Given the description of an element on the screen output the (x, y) to click on. 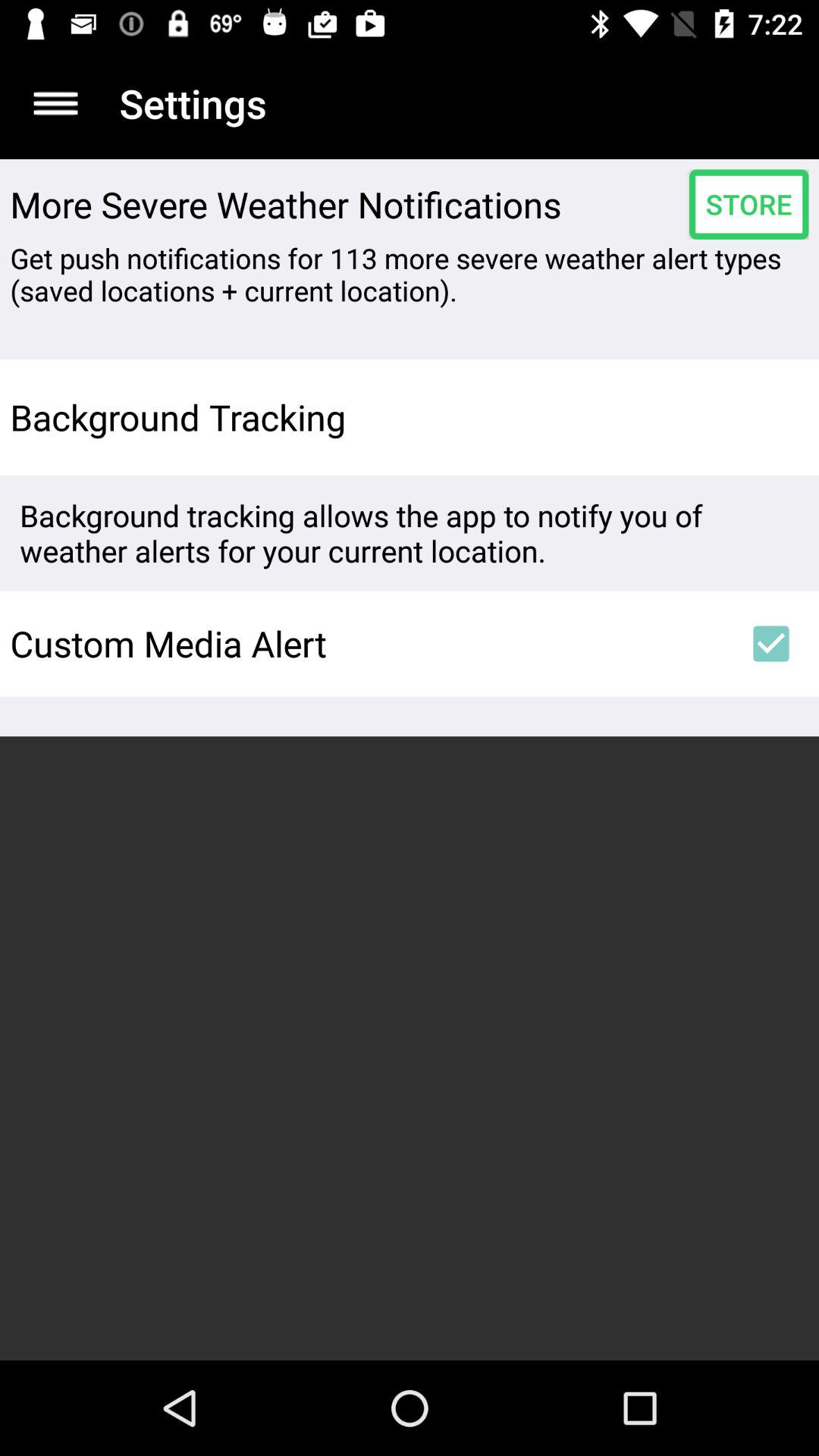
launch icon above the get push notifications item (748, 204)
